Given the description of an element on the screen output the (x, y) to click on. 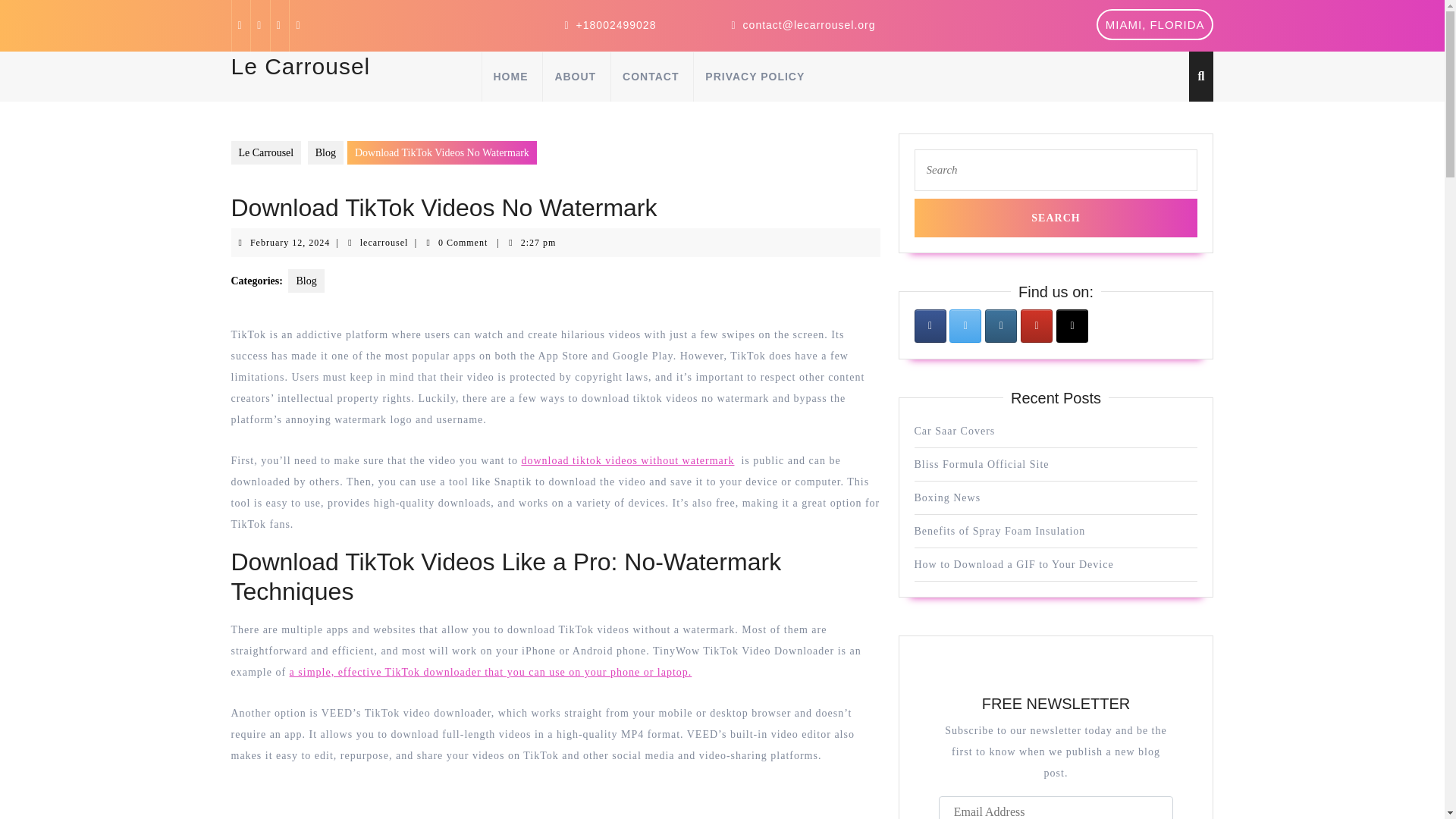
Le Carrousel on Tiktok (1072, 326)
Le Carrousel (265, 152)
Le Carrousel (299, 66)
Search (1056, 218)
Facebook (290, 242)
Blog (238, 25)
CONTACT (325, 152)
Le Carrousel on X Twitter (650, 75)
Le Carrousel on Instagram (965, 326)
Le Carrousel on Facebook (1000, 326)
Blog (930, 326)
HOME (305, 280)
Le Carrousel on Youtube (509, 75)
